Given the description of an element on the screen output the (x, y) to click on. 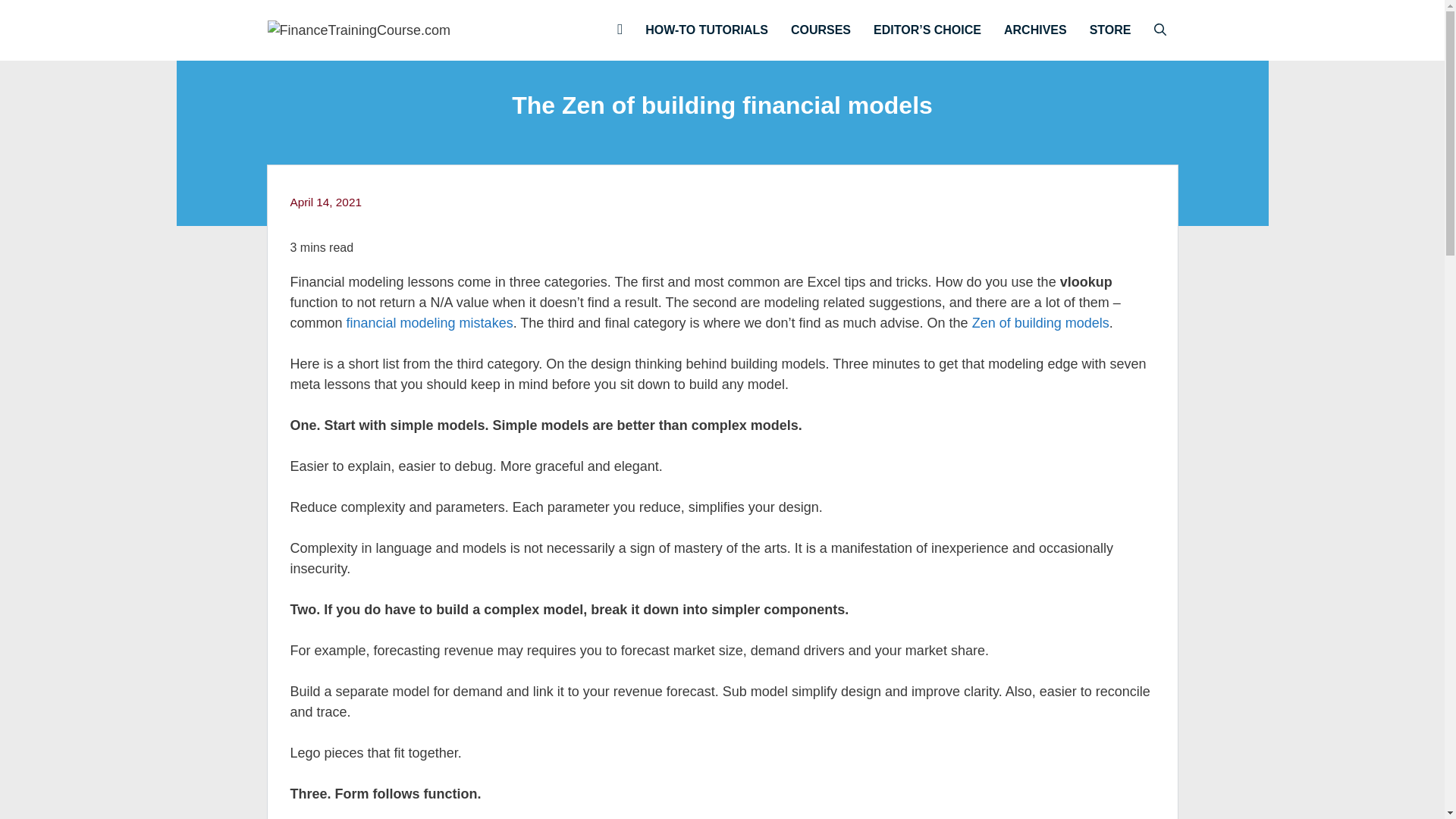
STORE (1110, 30)
financial modeling mistakes (429, 322)
COURSES (819, 30)
ARCHIVES (1035, 30)
Zen of building models (1040, 322)
HOW-TO TUTORIALS (705, 30)
